Given the description of an element on the screen output the (x, y) to click on. 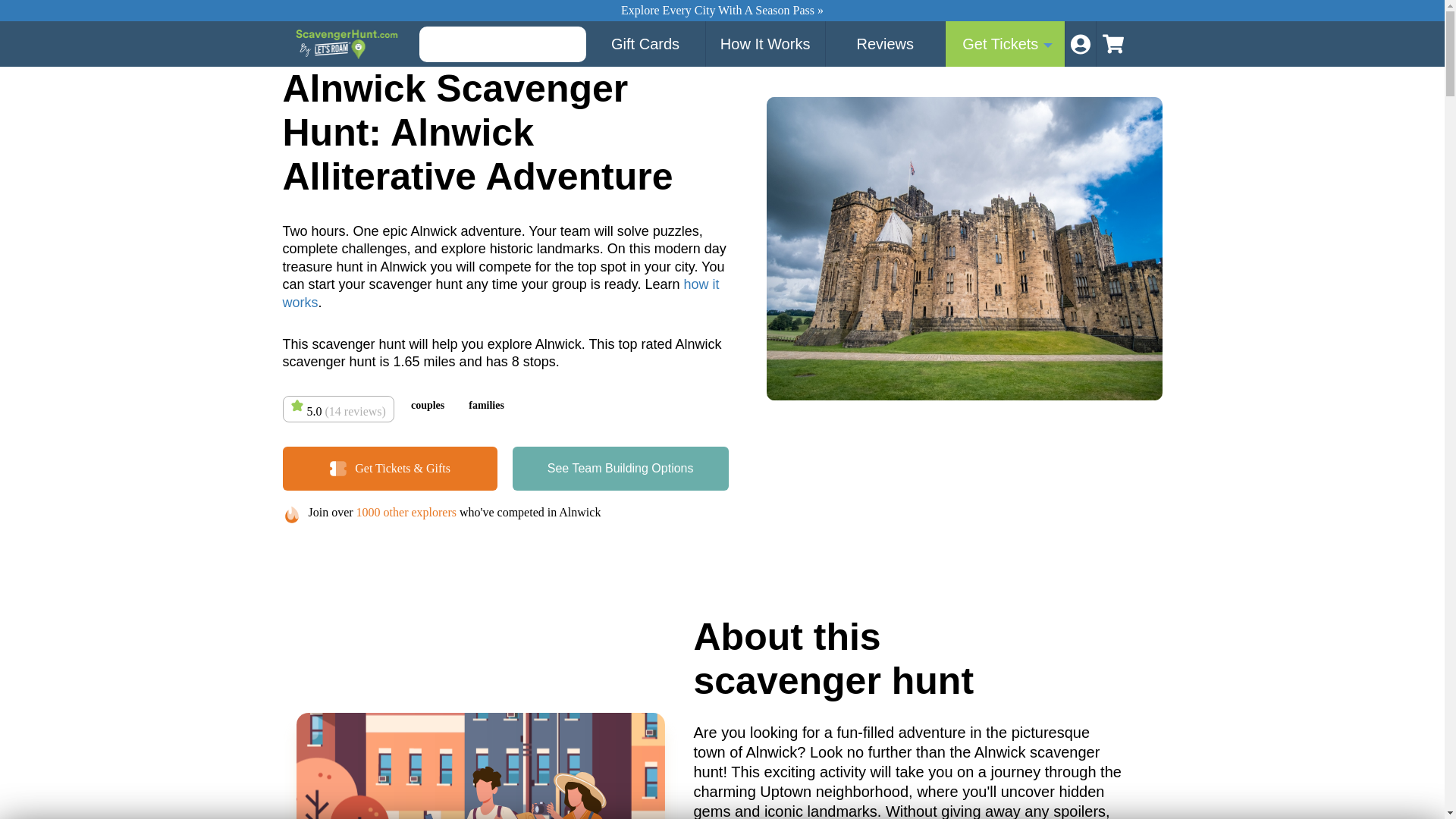
Gift Cards (644, 43)
how it works (500, 292)
See Gift Options (644, 43)
See Team Building Options (620, 468)
ScavengerHunt.com Scavenger Hunts by Let's Roam (348, 43)
How our Scavenger Hunts work (765, 43)
Reviews (884, 43)
Get Tickets (620, 468)
Get Scavenger Hunt Tickets (1004, 43)
How It Works (765, 43)
Get Tickets (1004, 43)
Reviews (884, 43)
how it works (500, 292)
